Given the description of an element on the screen output the (x, y) to click on. 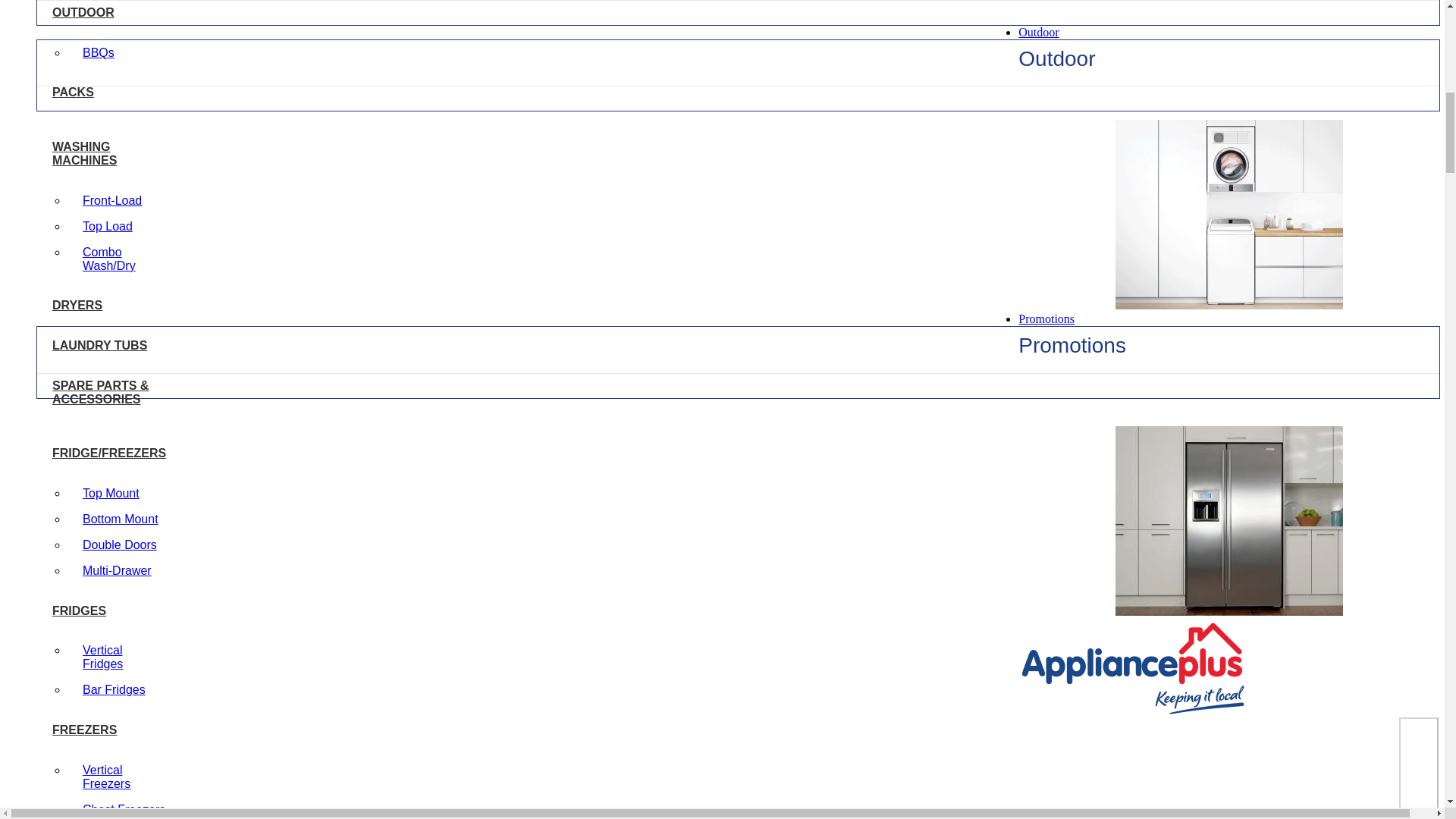
DRYERS (108, 305)
PACKS (108, 92)
Top Load (107, 226)
Top Mount (110, 492)
OUTDOOR (108, 12)
Front-Load (111, 200)
BBQs (98, 51)
WASHING MACHINES (108, 153)
LAUNDRY TUBS (108, 345)
